Given the description of an element on the screen output the (x, y) to click on. 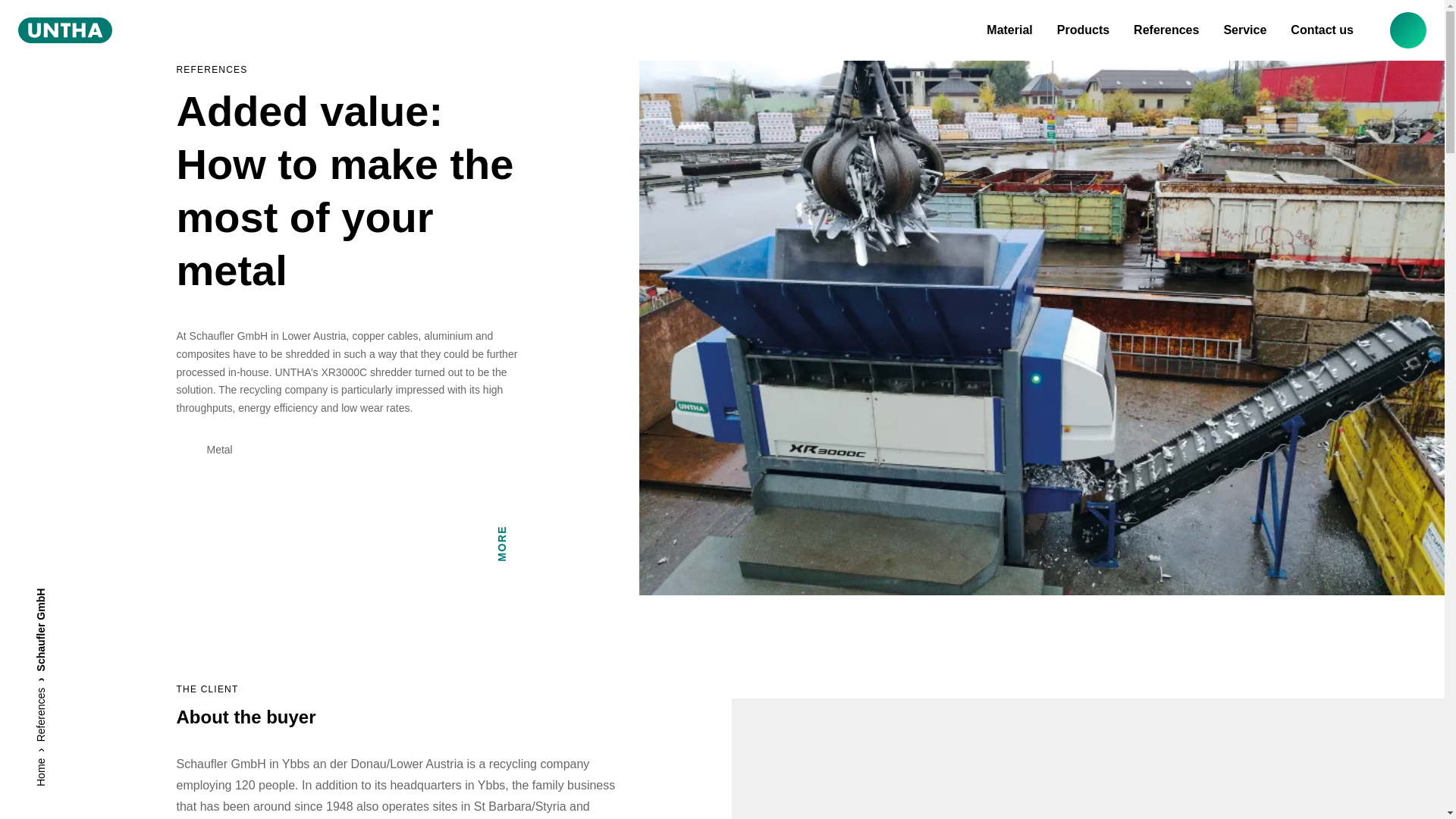
Products (1083, 30)
Metal (351, 451)
Contact us (1322, 30)
References (1166, 30)
References (59, 696)
Service (1244, 30)
Home (46, 766)
Material (1009, 30)
Schaufler GmbH (74, 596)
